Given the description of an element on the screen output the (x, y) to click on. 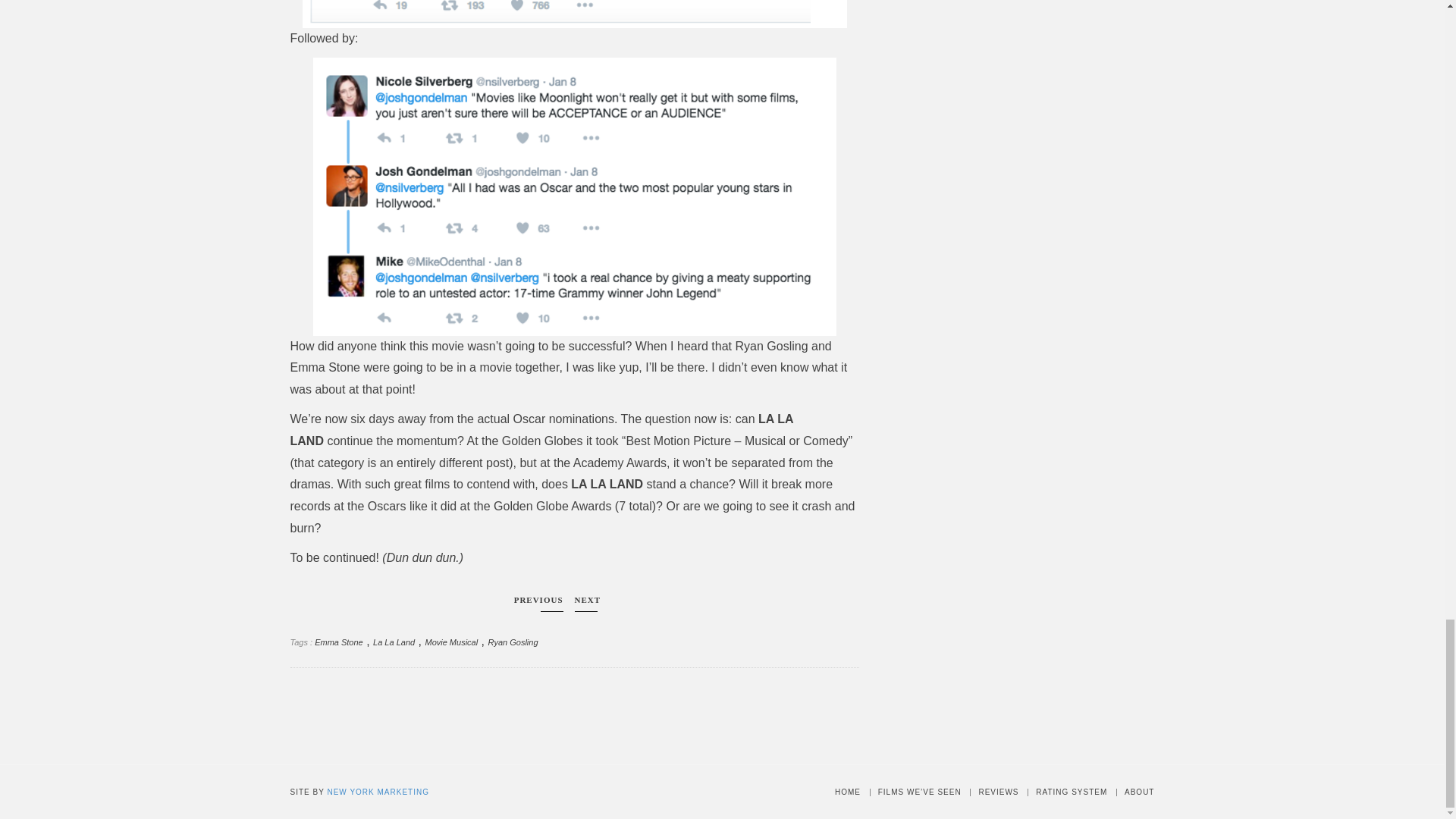
La La Land (393, 642)
NEXT (588, 603)
Emma Stone (338, 642)
PREVIOUS (538, 603)
Ryan Gosling (512, 642)
Movie Musical (451, 642)
